Given the description of an element on the screen output the (x, y) to click on. 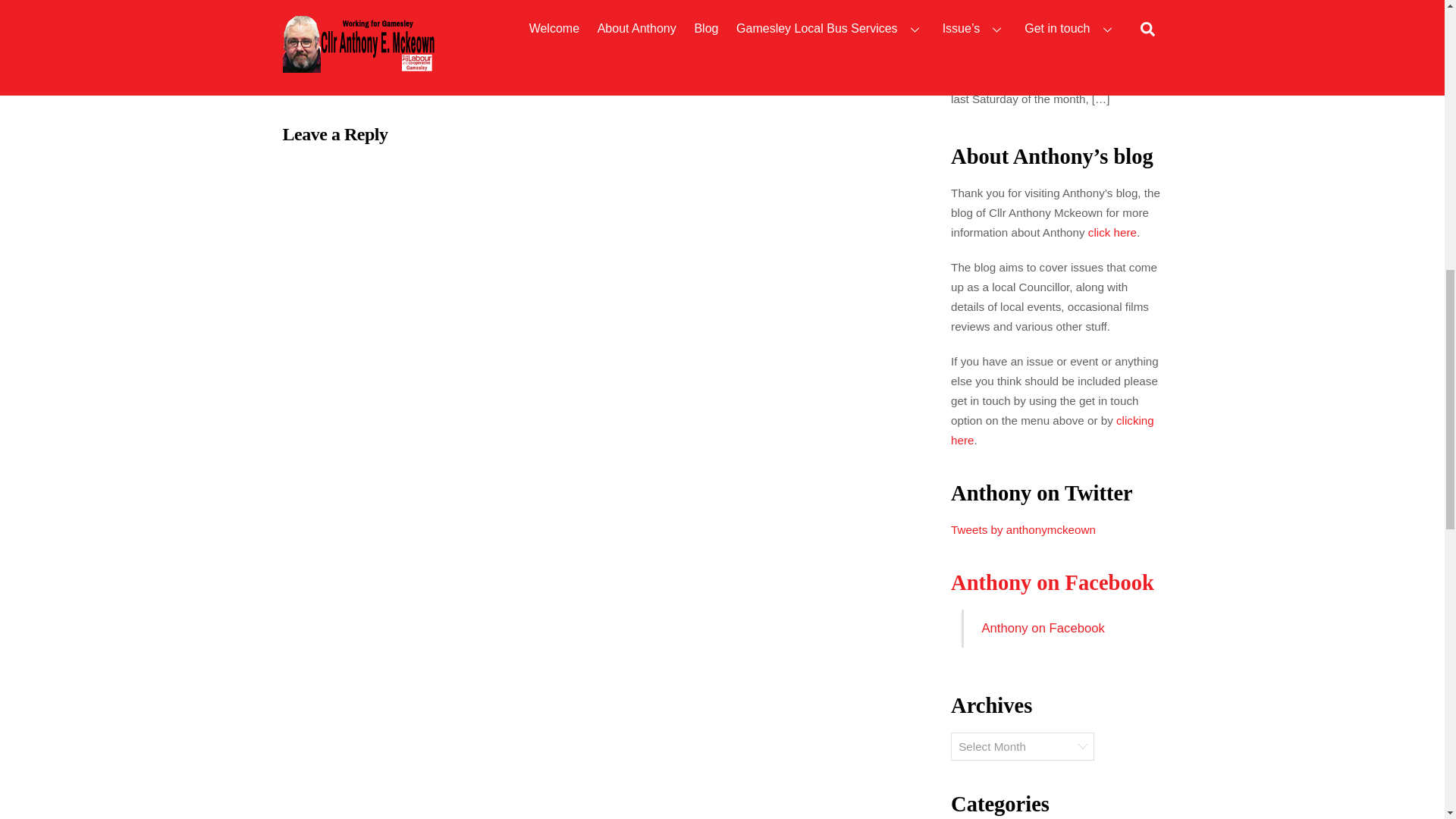
click here (1112, 232)
UNCATEGORIZED (320, 14)
Get in touch (1052, 430)
Remembrance Sunday 2022 (362, 34)
